Given the description of an element on the screen output the (x, y) to click on. 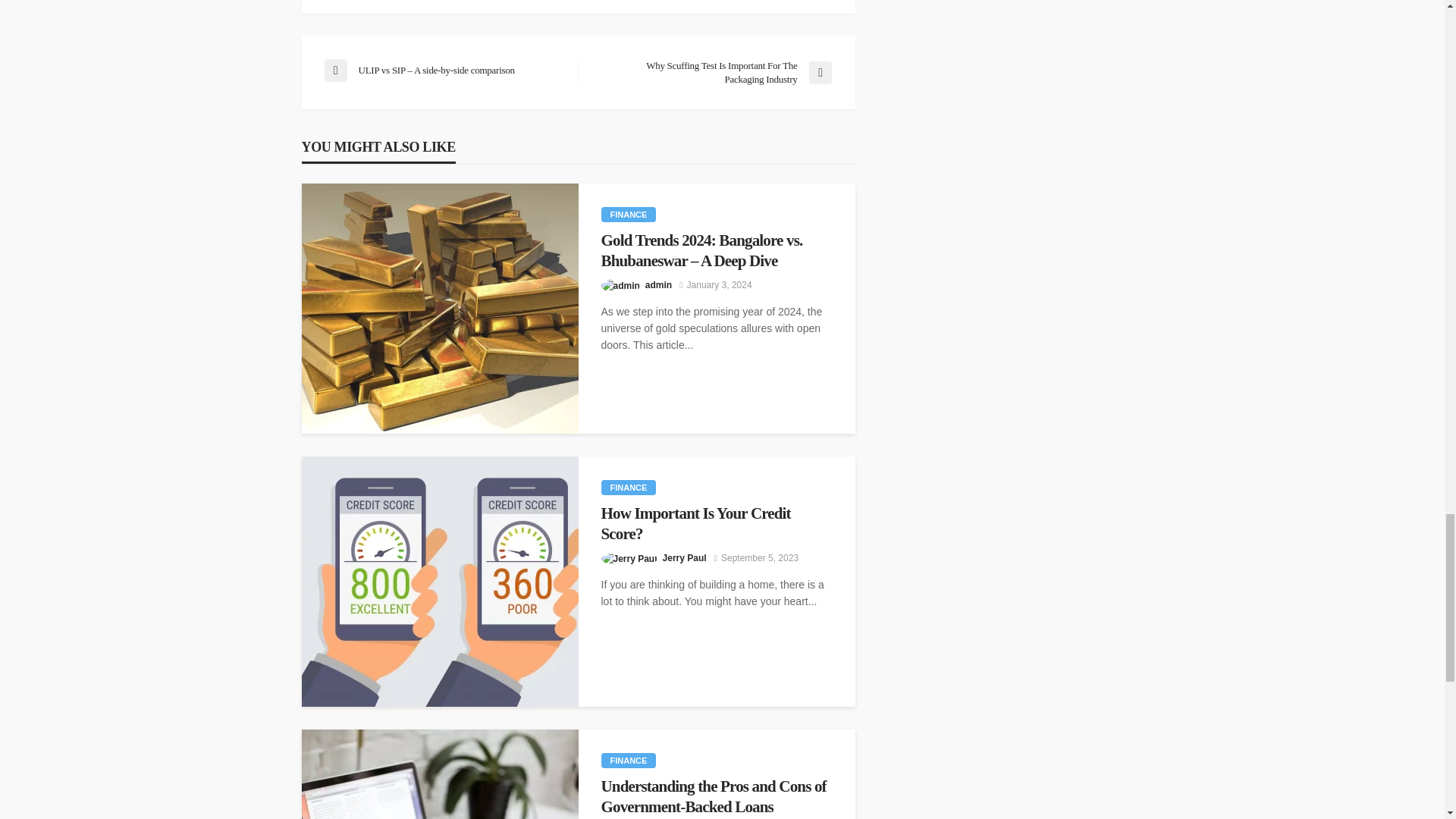
Finance (627, 760)
Why Scuffing Test Is Important For The Packaging Industry (711, 72)
Why Scuffing Test Is Important For The Packaging Industry (711, 72)
Understanding the Pros and Cons of Government-Backed Loans (715, 796)
How Important Is Your Credit Score? (715, 523)
Finance (627, 487)
Understanding the Pros and Cons of Government-Backed Loans (439, 774)
How Important Is Your Credit Score? (439, 581)
Finance (627, 214)
